Given the description of an element on the screen output the (x, y) to click on. 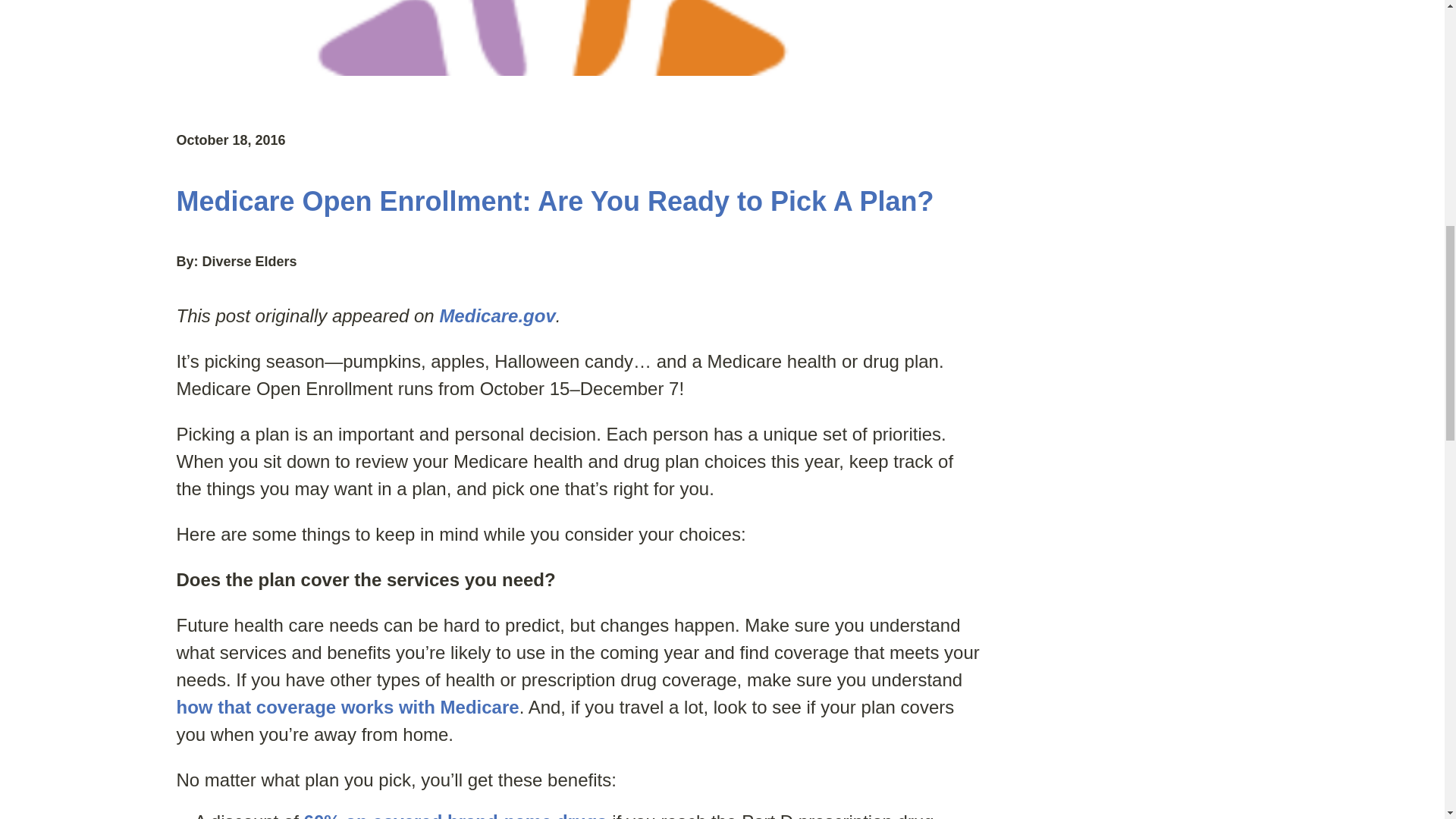
Medicare.gov (496, 315)
how that coverage works with Medicare (347, 706)
